Given the description of an element on the screen output the (x, y) to click on. 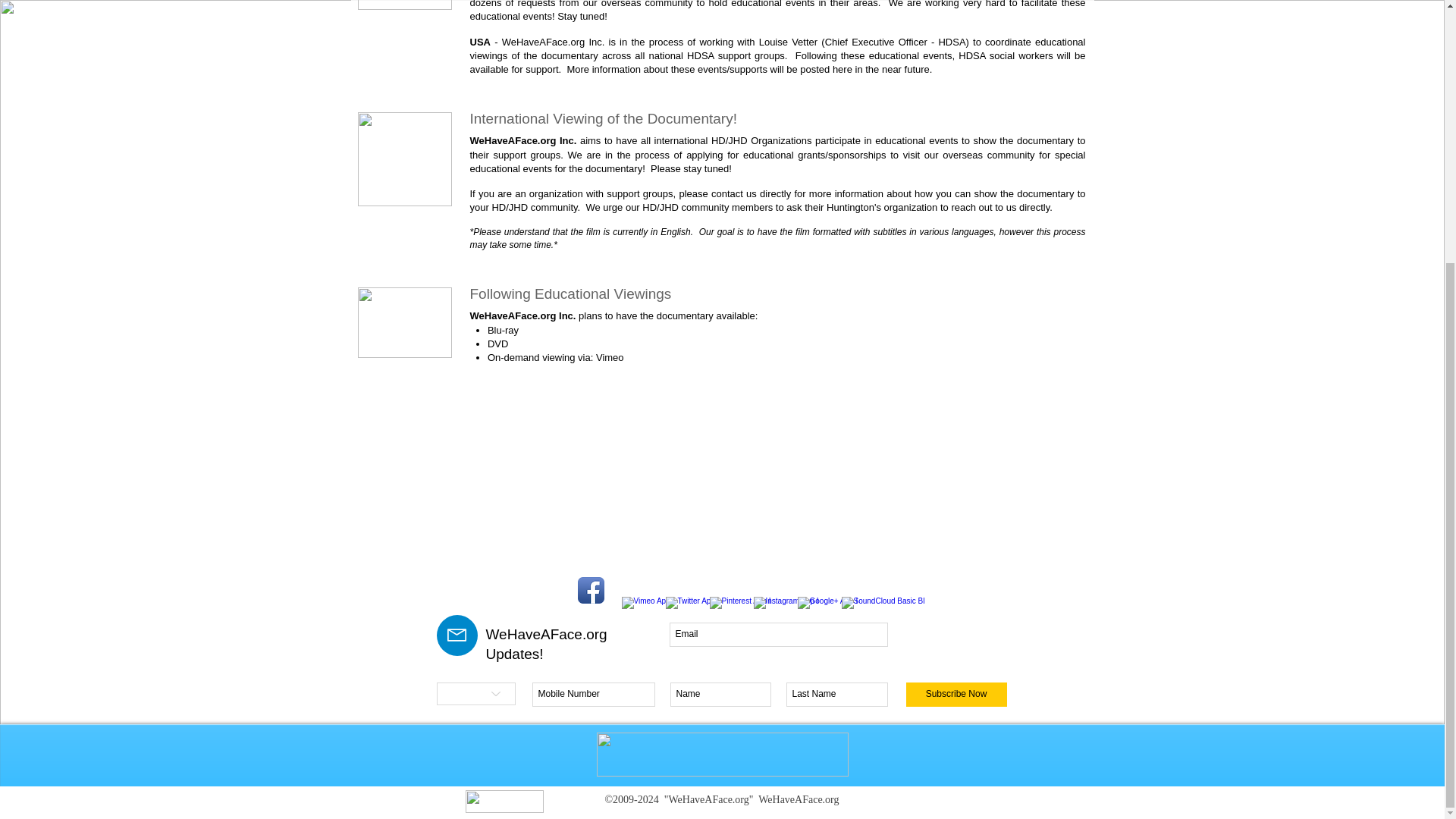
Email us! (404, 159)
See the Trailer! (404, 4)
Subscribe Now (955, 694)
